Given the description of an element on the screen output the (x, y) to click on. 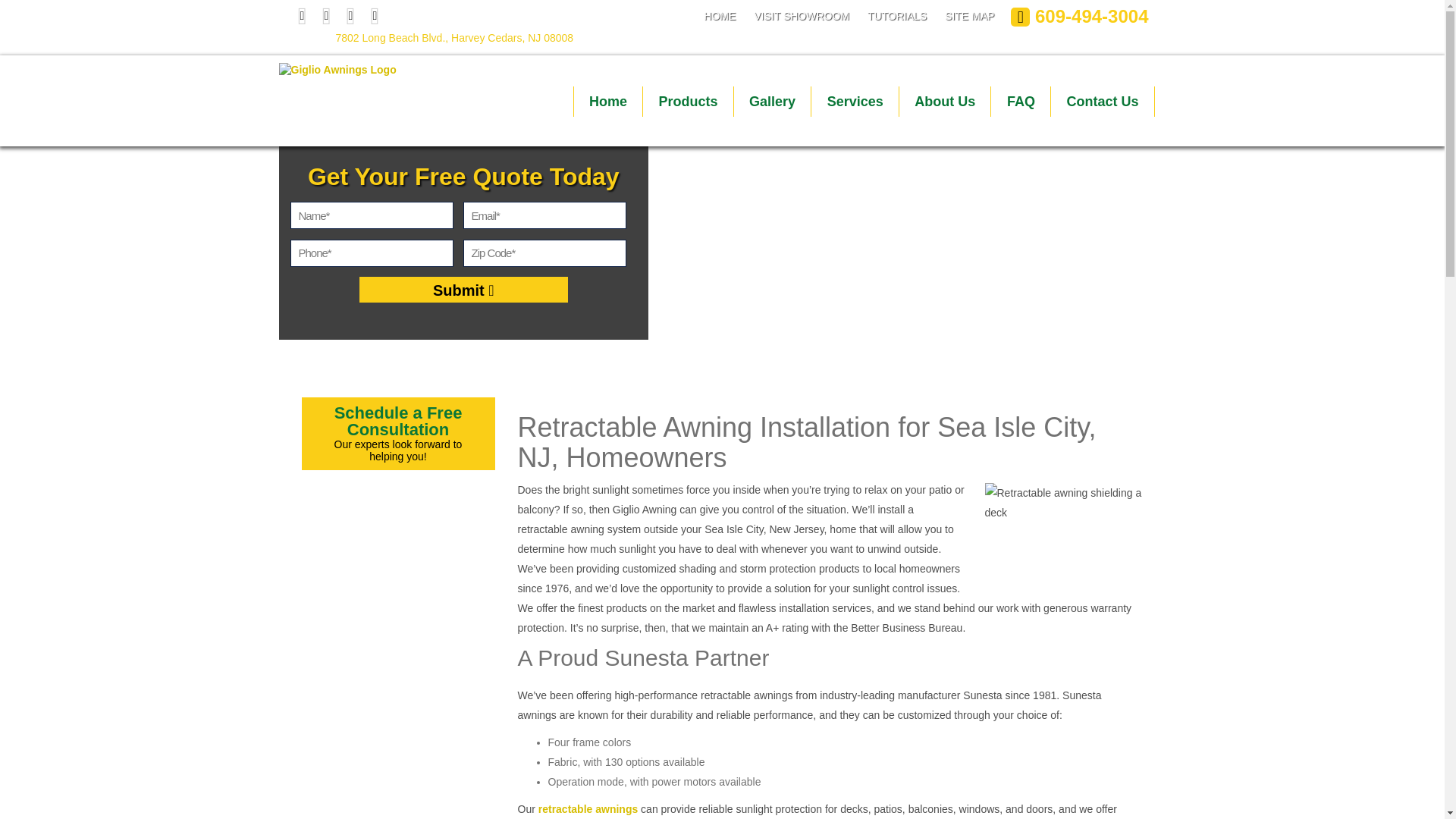
Retractable Awning Sea Isle City NJ (1063, 535)
Giglio Awnings (337, 64)
SITE MAP (969, 15)
Gallery (771, 101)
Home (608, 101)
Products (688, 101)
TUTORIALS (896, 15)
VISIT SHOWROOM (801, 15)
HOME (719, 15)
